Given the description of an element on the screen output the (x, y) to click on. 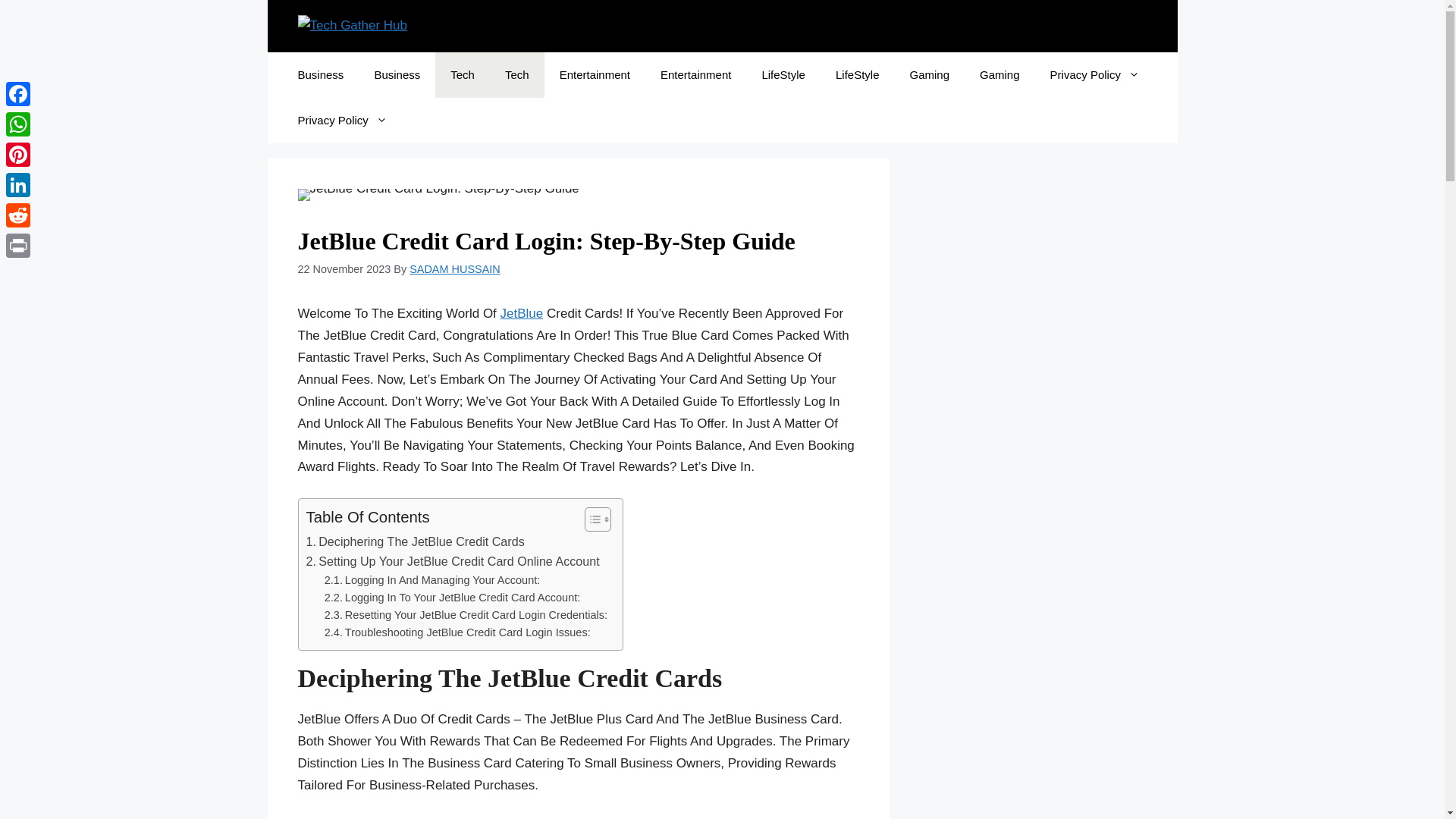
SADAM HUSSAIN (454, 268)
View all posts by SADAM HUSSAIN (454, 268)
Entertainment (695, 74)
Gaming (930, 74)
Setting Up Your JetBlue Credit Card Online Account (452, 561)
Logging In and Managing Your Account: (432, 579)
Business (320, 74)
Tech (462, 74)
Deciphering The JetBlue Credit Cards (414, 542)
Resetting Your JetBlue Credit Card Login Credentials: (465, 615)
Troubleshooting JetBlue Credit Card Login Issues: (457, 632)
Setting Up Your JetBlue Credit Card Online Account (452, 561)
Privacy Policy (341, 120)
LifeStyle (783, 74)
Tech (516, 74)
